Given the description of an element on the screen output the (x, y) to click on. 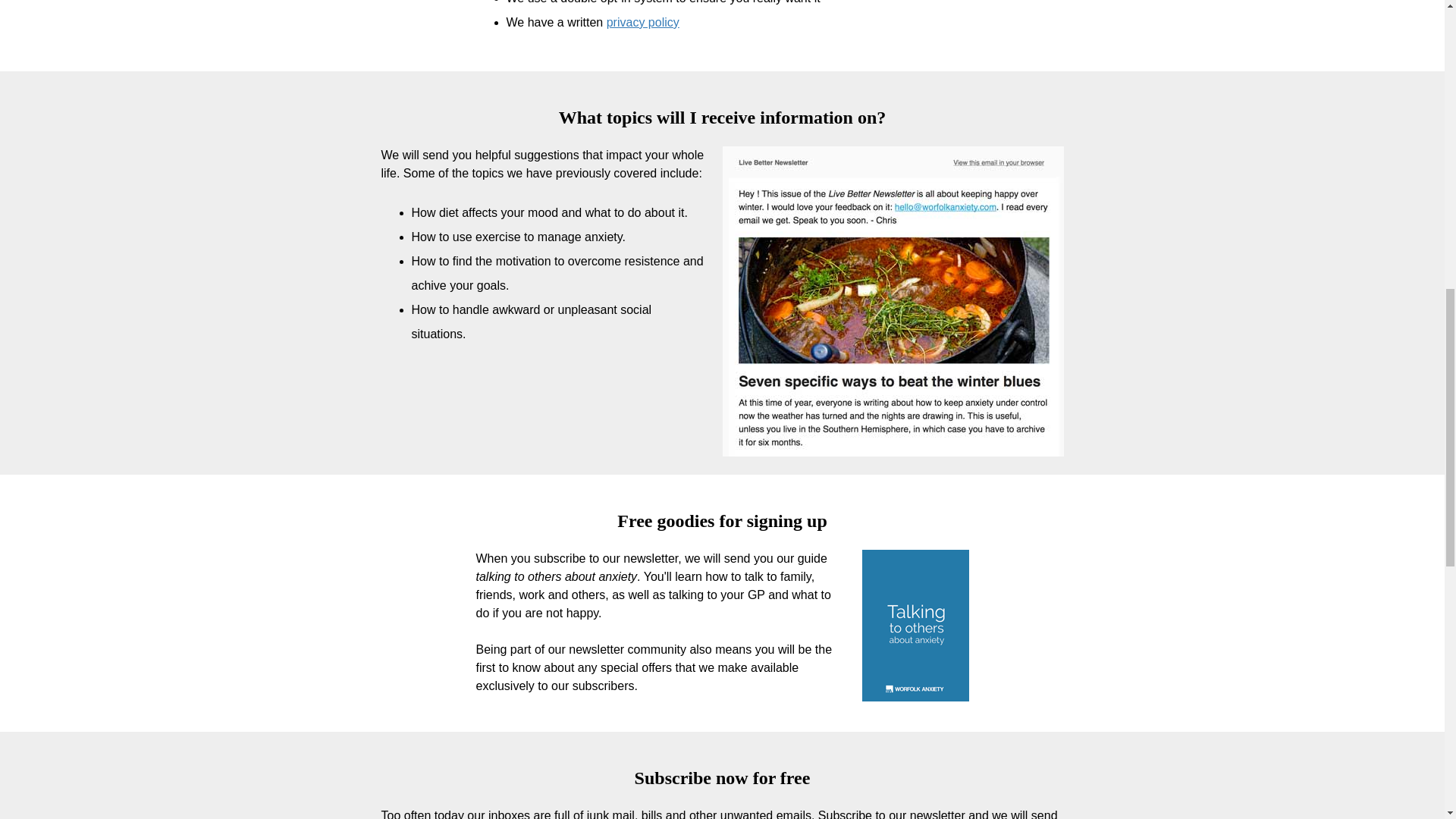
privacy policy (643, 21)
